Given the description of an element on the screen output the (x, y) to click on. 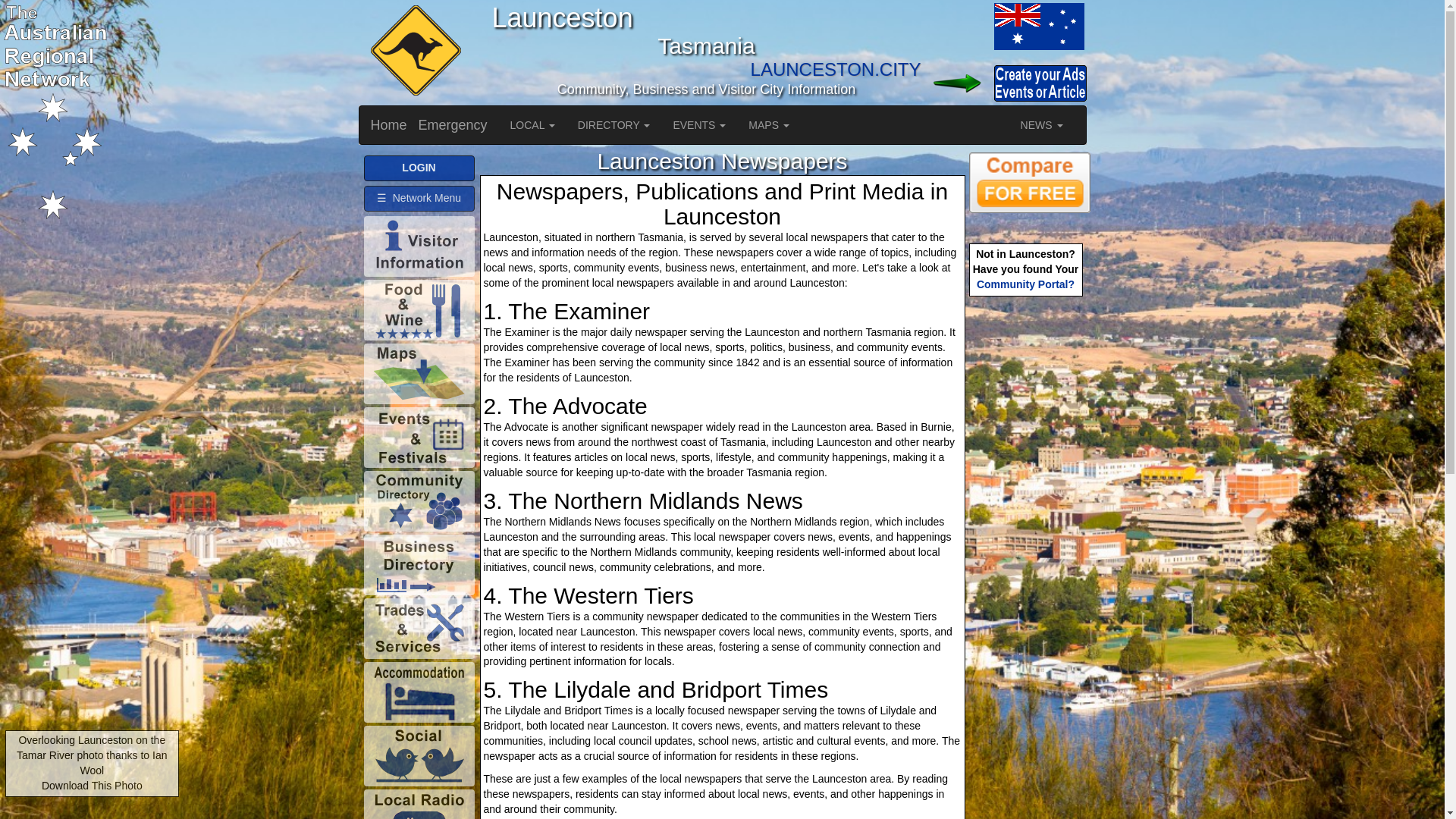
LOCAL (532, 125)
Australia (956, 26)
Home (389, 125)
Launceston Skippycoin ICG (413, 52)
Launceston Hotel Search Engine (1029, 182)
Login to launceston.city (956, 83)
Launceston Australia (1037, 26)
DIRECTORY (614, 125)
Emergency (453, 125)
